Given the description of an element on the screen output the (x, y) to click on. 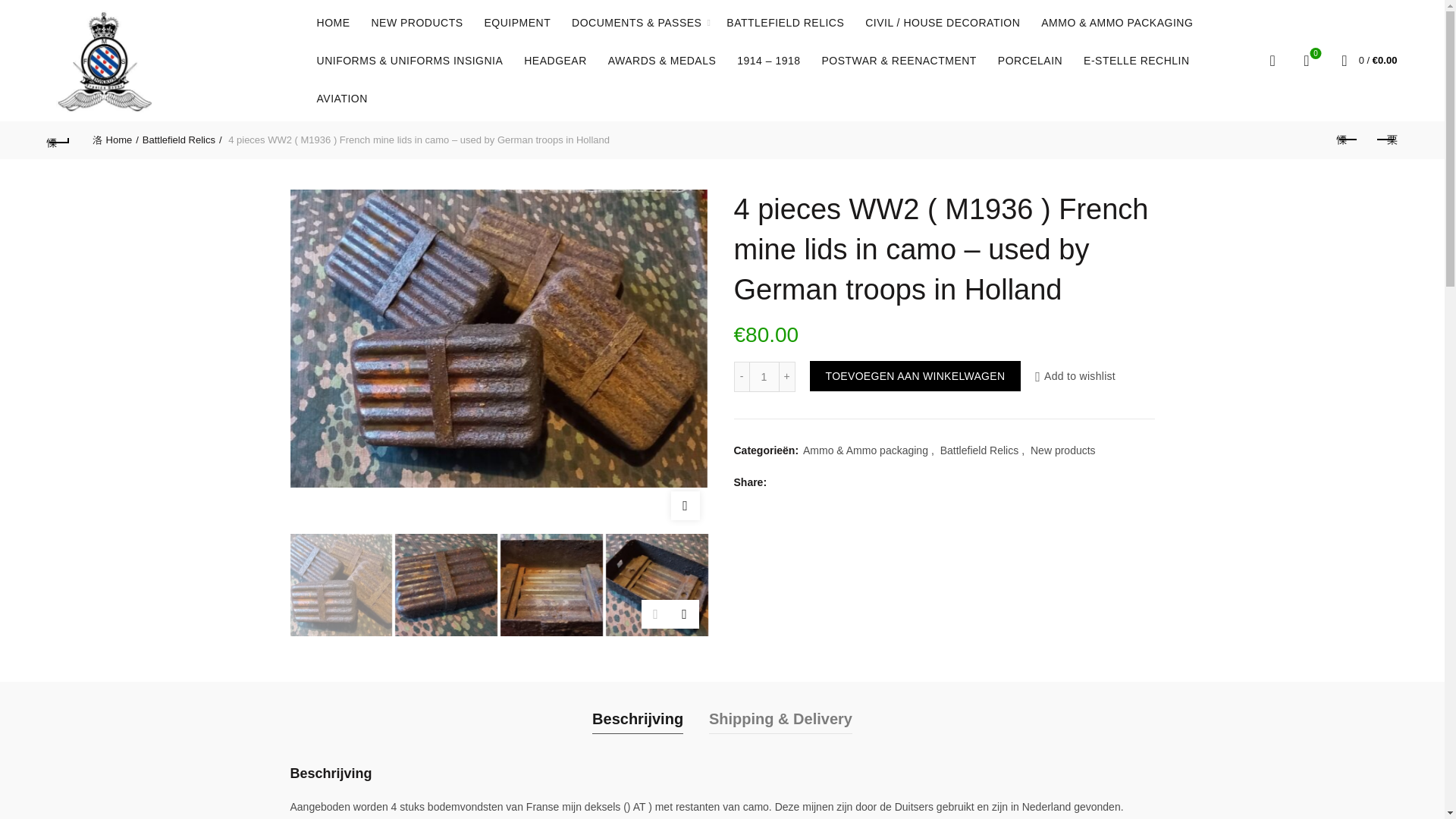
HOME (333, 22)
EQUIPMENT (517, 22)
1 (763, 376)
NEW PRODUCTS (416, 22)
